Given the description of an element on the screen output the (x, y) to click on. 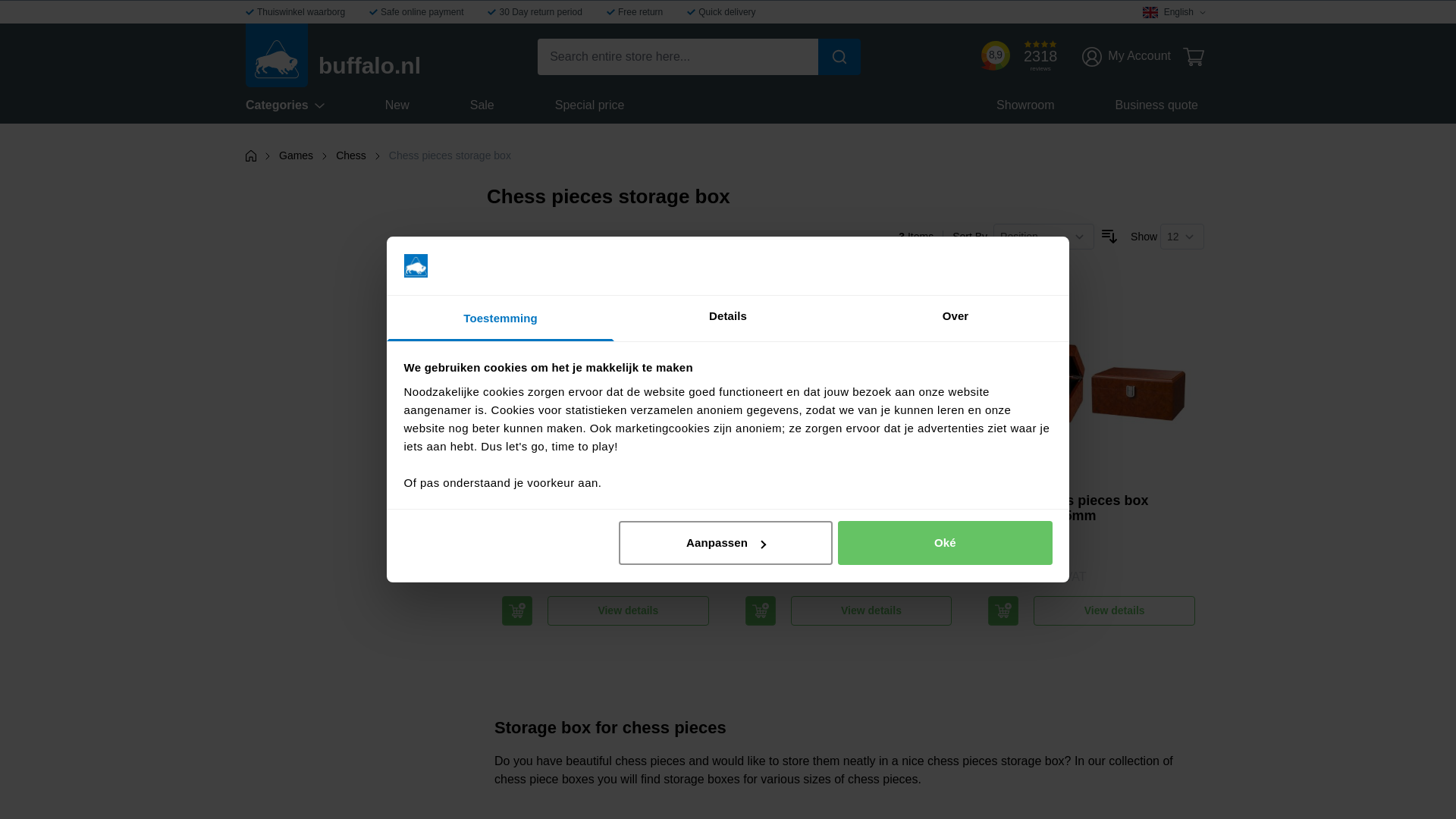
Submit (839, 56)
Details (727, 318)
Toestemming (500, 318)
Over (954, 318)
